Given the description of an element on the screen output the (x, y) to click on. 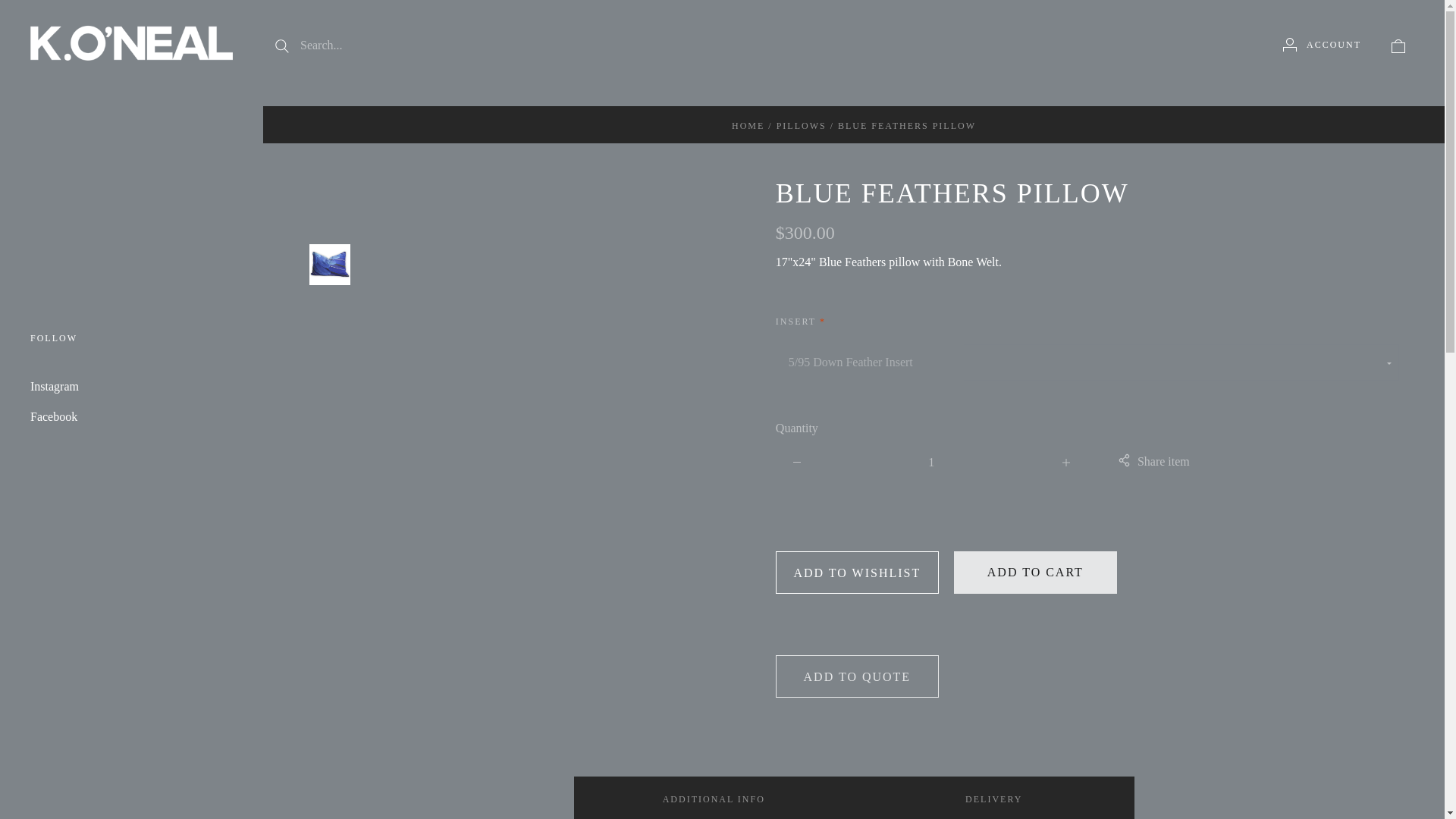
ADD TO WISHLIST (857, 572)
Facebook (53, 416)
ACCOUNT (1321, 44)
1 (931, 462)
Share item (1153, 462)
Cart (1398, 46)
Instagram (54, 386)
ADDITIONAL INFO (713, 797)
DELIVERY (993, 797)
Account (1289, 44)
ADD TO CART (1034, 572)
ADD TO QUOTE (857, 676)
PILLOWS (801, 125)
HOME (748, 125)
